Given the description of an element on the screen output the (x, y) to click on. 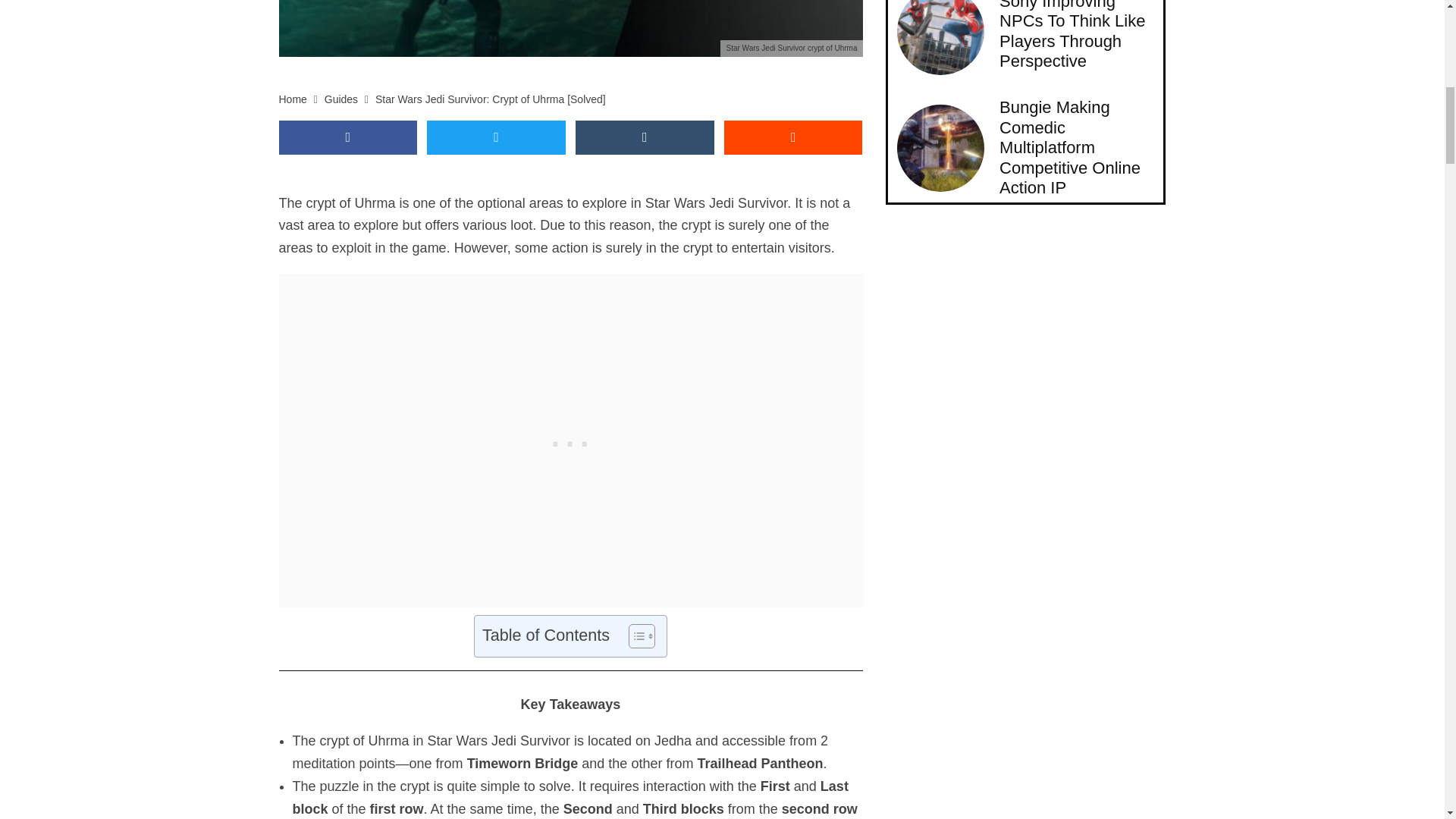
Home (293, 99)
Guides (341, 99)
